Given the description of an element on the screen output the (x, y) to click on. 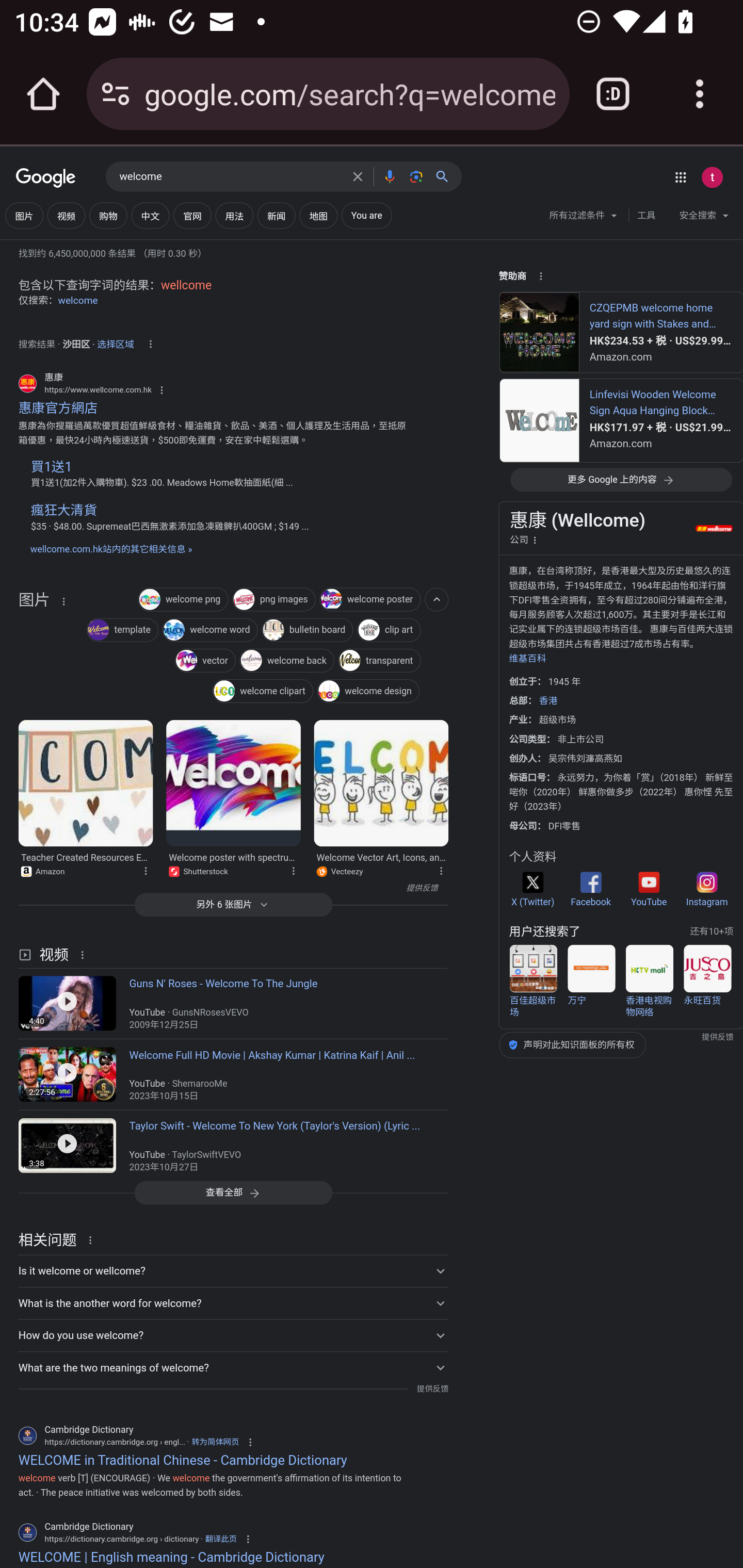
Open the home page (43, 93)
Connection is secure (115, 93)
Switch or close tabs (612, 93)
Customize and control Google Chrome (699, 93)
清除 (357, 176)
按语音搜索 (389, 176)
按图搜索 (415, 176)
搜索 (446, 176)
Google 应用 (680, 176)
Google 账号： test appium (testappium002@gmail.com) (712, 176)
Google (45, 178)
welcome (229, 177)
图片 (24, 215)
视频 (65, 215)
购物 (107, 215)
添加“中文” 中文 (149, 215)
添加“官网” 官网 (191, 215)
添加“用法” 用法 (234, 215)
新闻 (276, 215)
地图 (318, 215)
添加“You are” You are (366, 215)
所有过滤条件 (583, 217)
工具 (646, 215)
安全搜索 (703, 217)
wellcome (185, 285)
welcome (77, 299)
选择区域 (115, 341)
位置信息使用方式 (149, 343)
買1送1 (50, 466)
瘋狂大清貨 (62, 510)
wellcome.com.hk站内的其它相关信息 » (110, 549)
图片 (33, 649)
welcome png (182, 600)
png images (273, 600)
welcome poster (369, 600)
按功能过滤 (436, 599)
关于这条结果的详细信息 (62, 601)
template (122, 631)
welcome word (209, 631)
bulletin board (306, 631)
clip art (388, 631)
vector (204, 661)
welcome back (286, 661)
transparent (378, 661)
welcome clipart (262, 692)
welcome design (367, 692)
关于这条结果的详细信息 (145, 869)
关于这条结果的详细信息 (292, 869)
关于这条结果的详细信息 (440, 869)
提供反馈 (227, 887)
另外 6 张图片 (232, 904)
关于这条结果的详细信息 (85, 954)
查看全部 (233, 1192)
关于这条结果的详细信息 (93, 1239)
Is it welcome or wellcome? (232, 1270)
What is the another word for welcome? (232, 1302)
How do you use welcome? (232, 1334)
What are the two meanings of welcome? (232, 1367)
提供反馈 (432, 1387)
转为简体网页 (214, 1442)
翻译此页 (220, 1539)
